Given the description of an element on the screen output the (x, y) to click on. 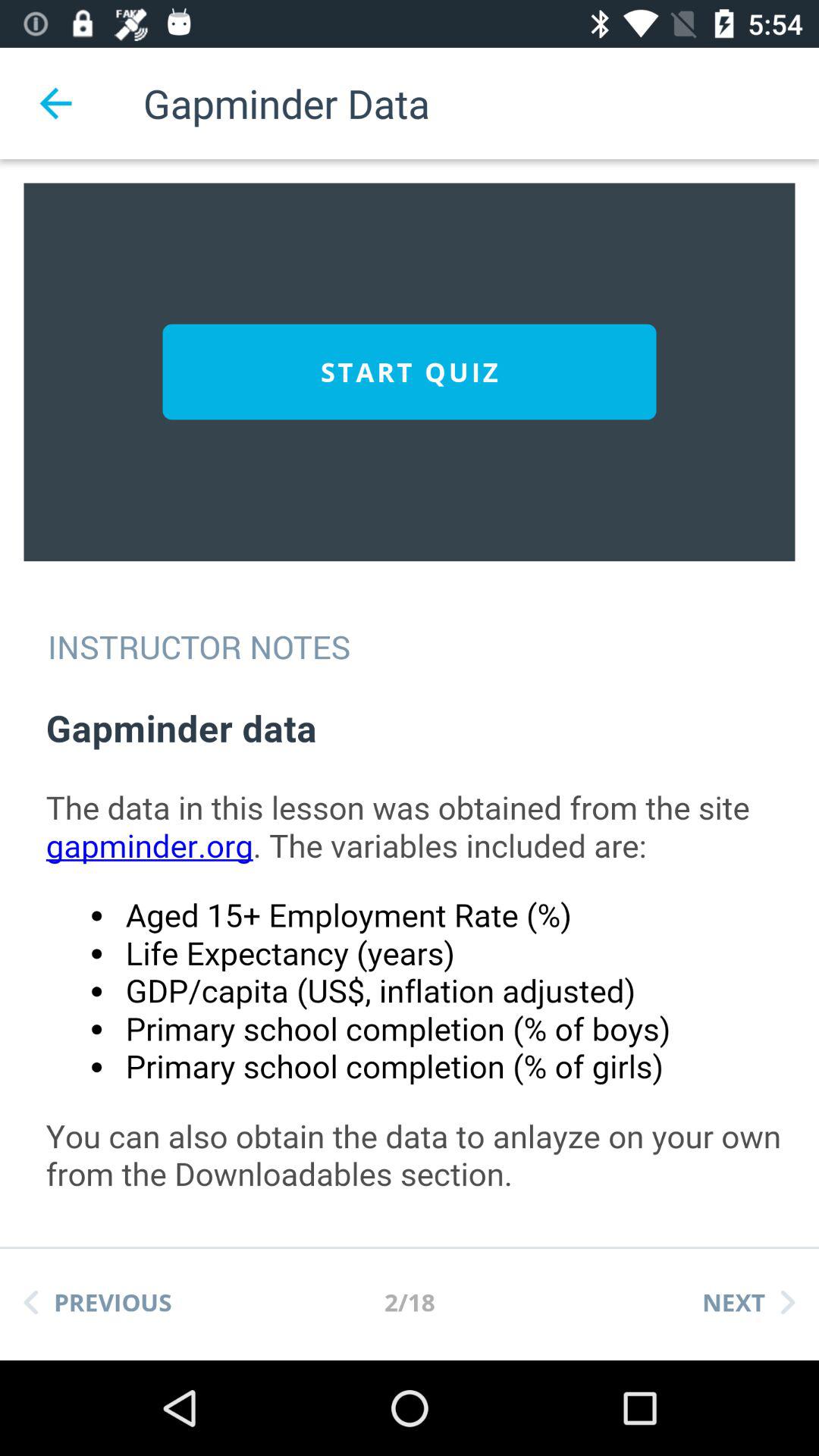
lesson parameters (424, 958)
